Given the description of an element on the screen output the (x, y) to click on. 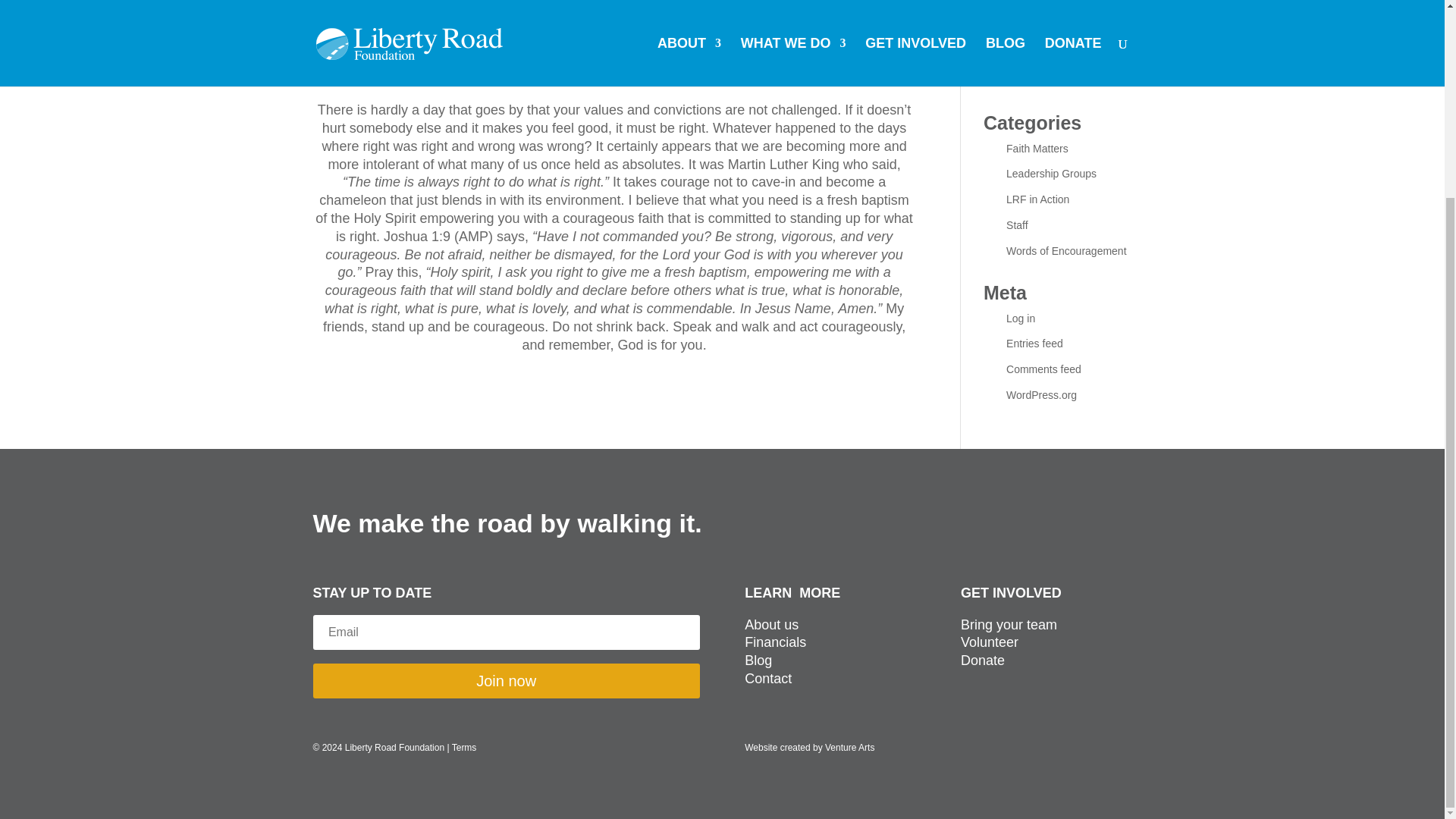
Just Keep Persevering (1059, 10)
Determination In Business (1067, 80)
The Road To Success Through Responsibility (1059, 46)
